Given the description of an element on the screen output the (x, y) to click on. 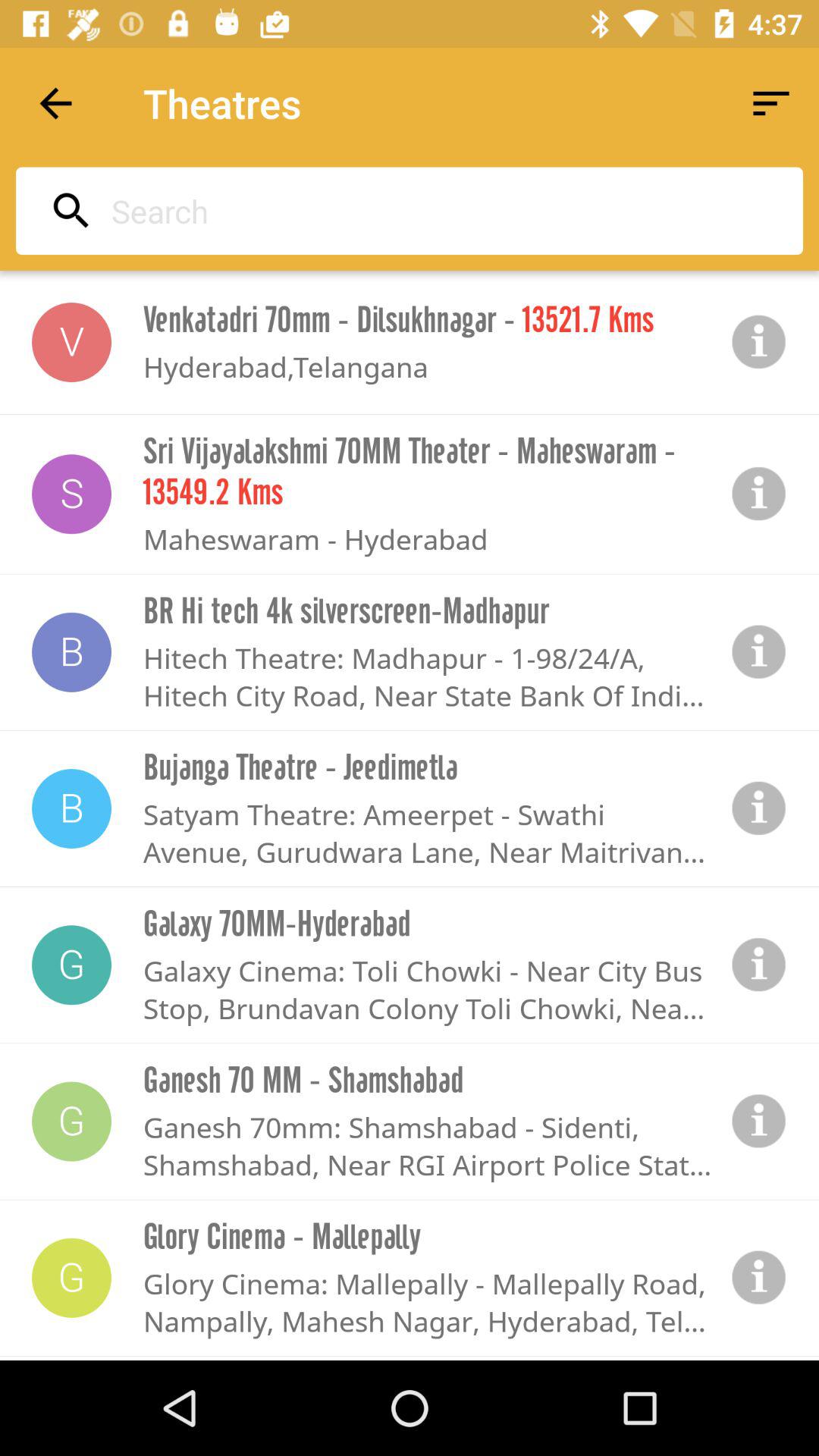
enter search term (405, 210)
